Given the description of an element on the screen output the (x, y) to click on. 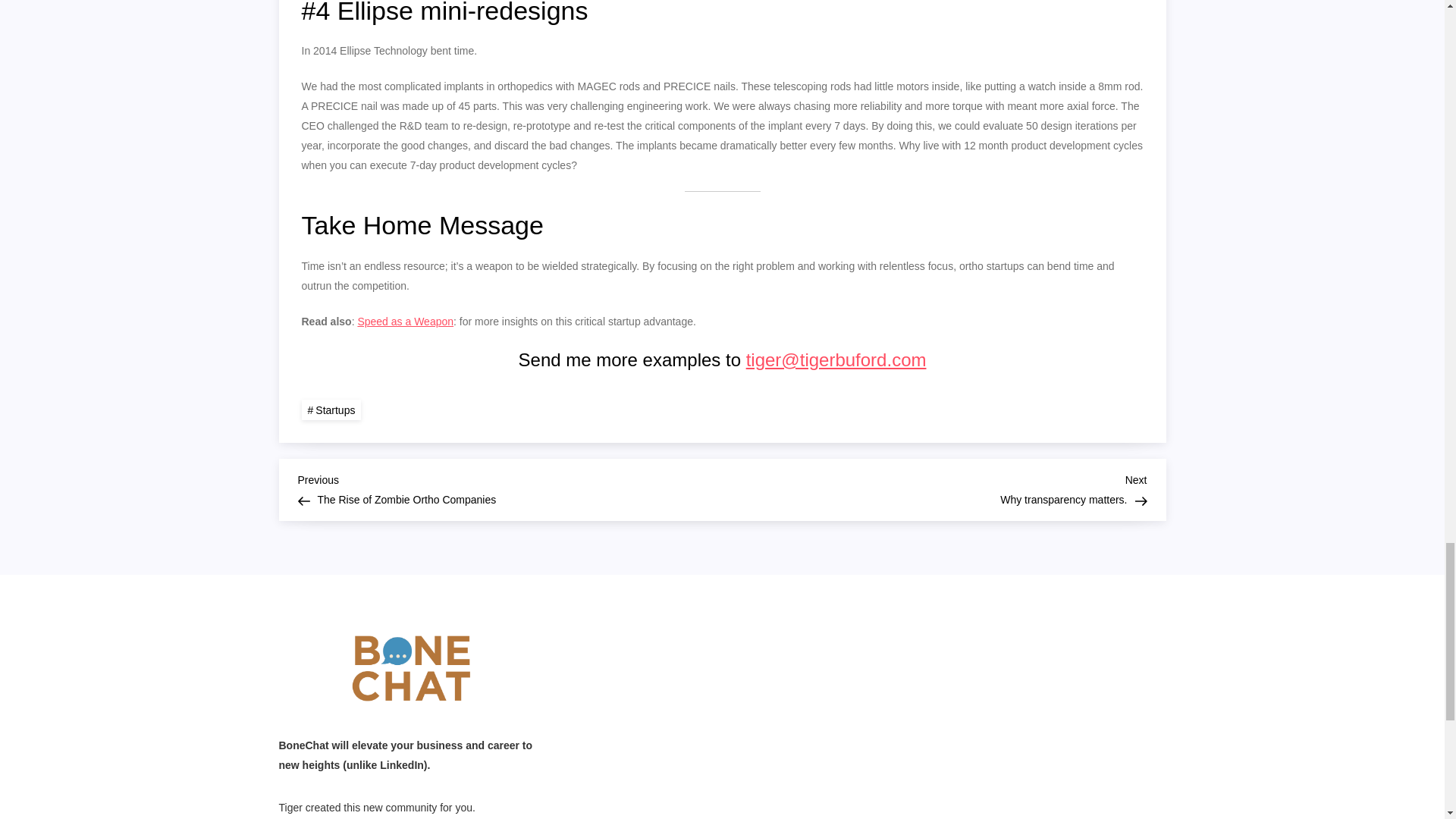
Startups (509, 488)
Speed as a Weapon (331, 409)
